Given the description of an element on the screen output the (x, y) to click on. 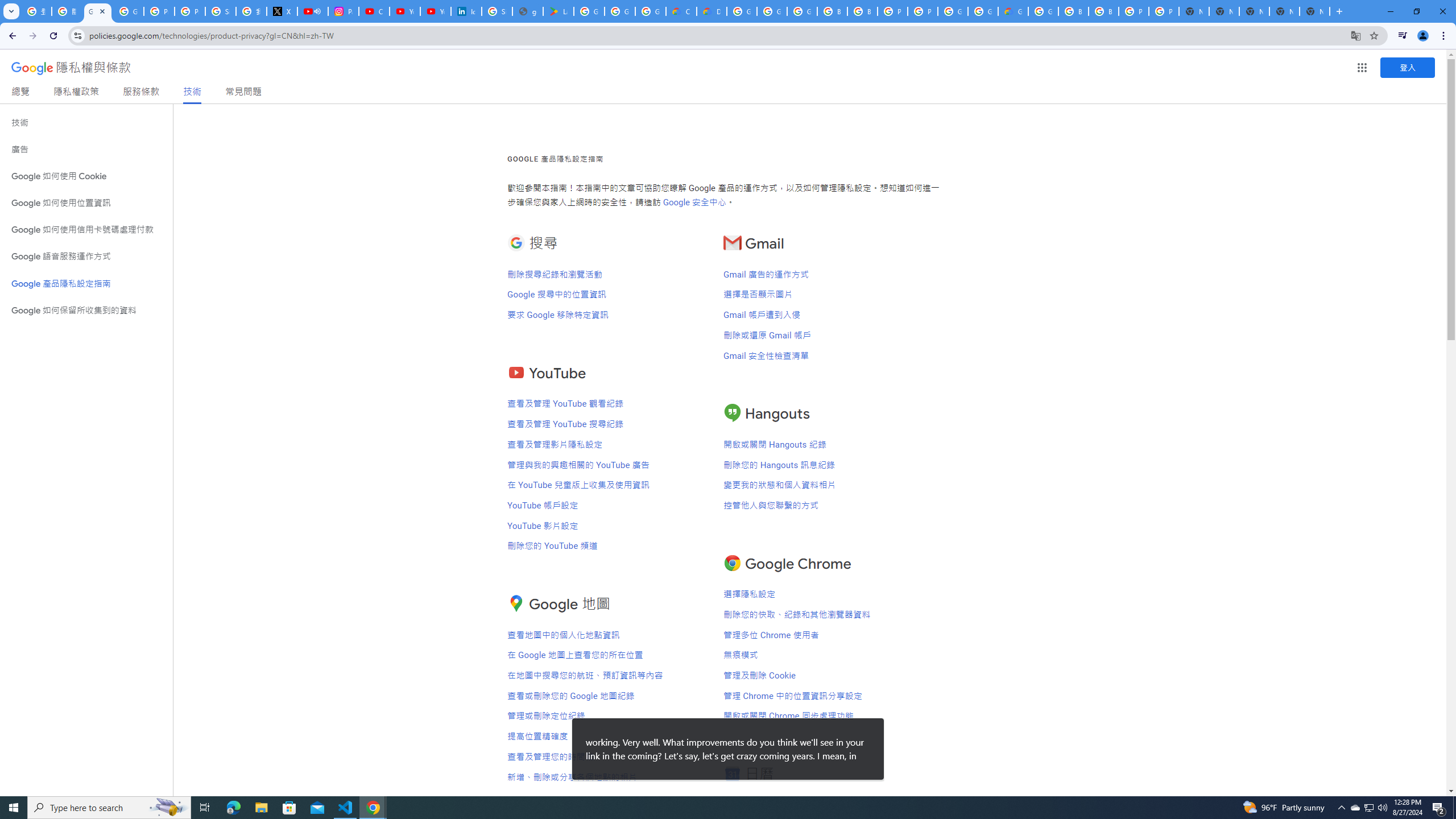
Privacy Help Center - Policies Help (158, 11)
